Given the description of an element on the screen output the (x, y) to click on. 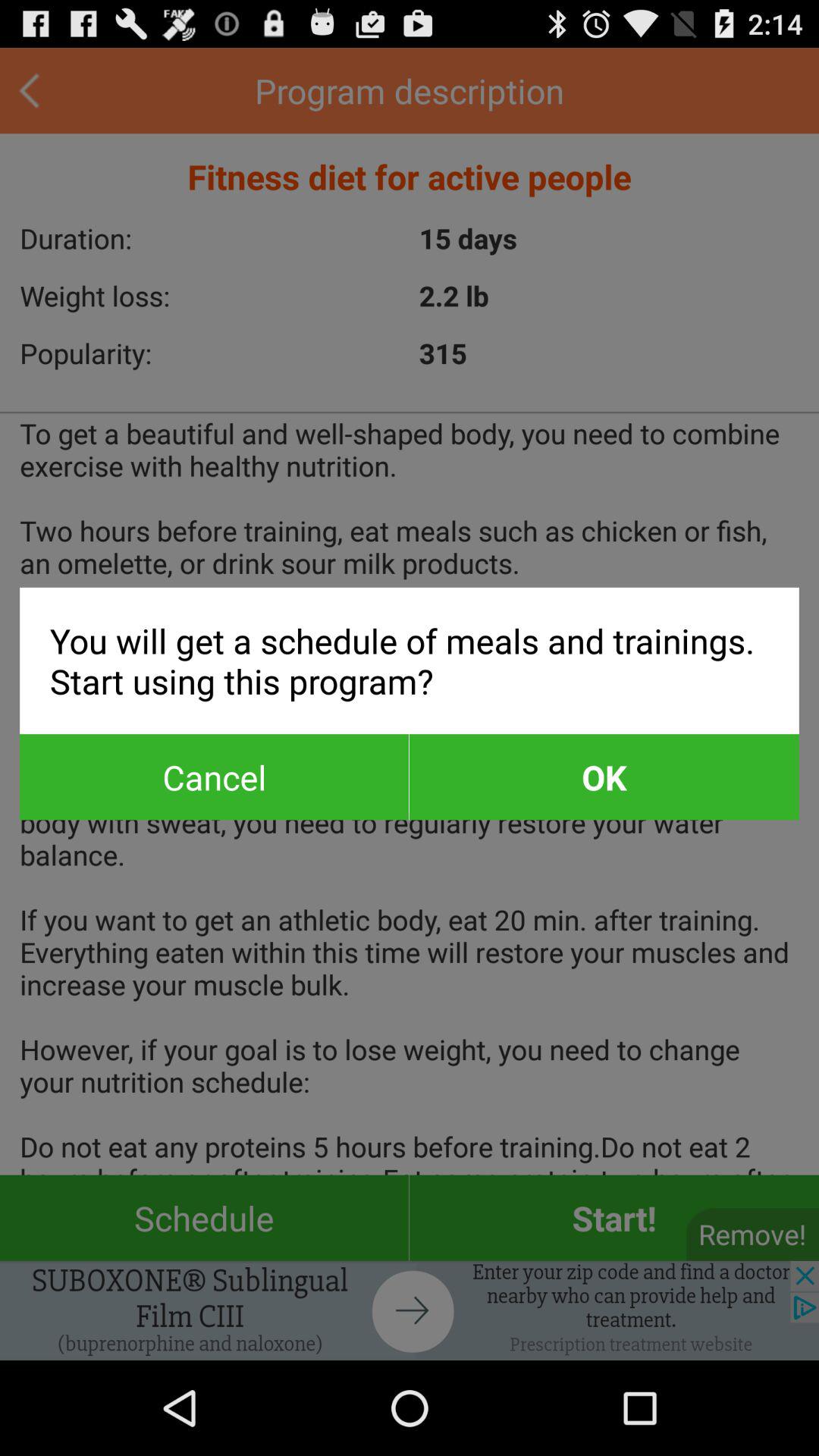
open item next to cancel (604, 777)
